Given the description of an element on the screen output the (x, y) to click on. 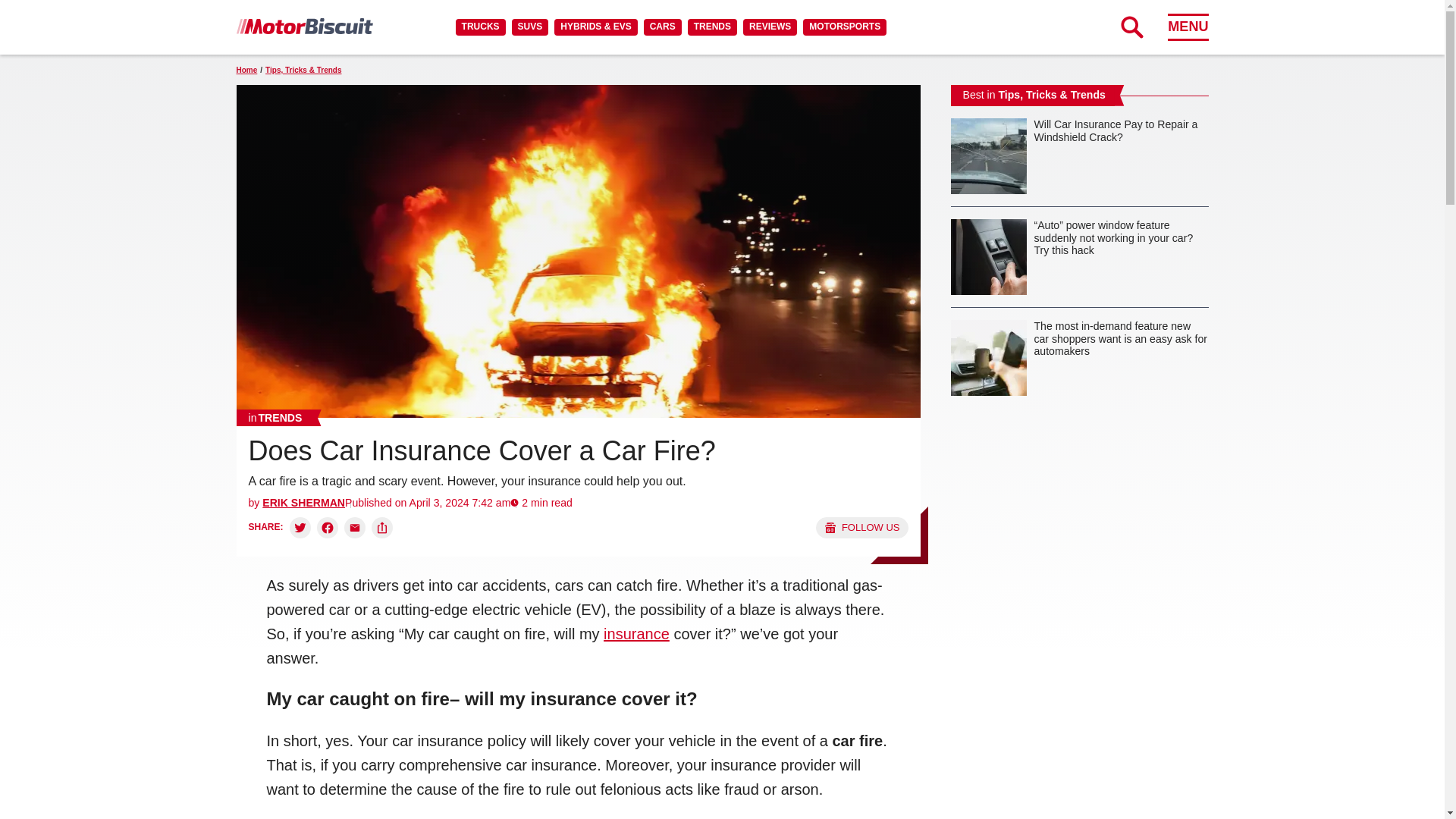
MOTORSPORTS (844, 26)
Expand Search (1131, 26)
MENU (1187, 26)
MotorBiscuit (303, 26)
TRENDS (711, 26)
TRUCKS (480, 26)
CARS (662, 26)
Copy link and share:  (382, 527)
Trends (274, 417)
Follow us on Google News (861, 527)
SUVS (530, 26)
REVIEWS (769, 26)
